Given the description of an element on the screen output the (x, y) to click on. 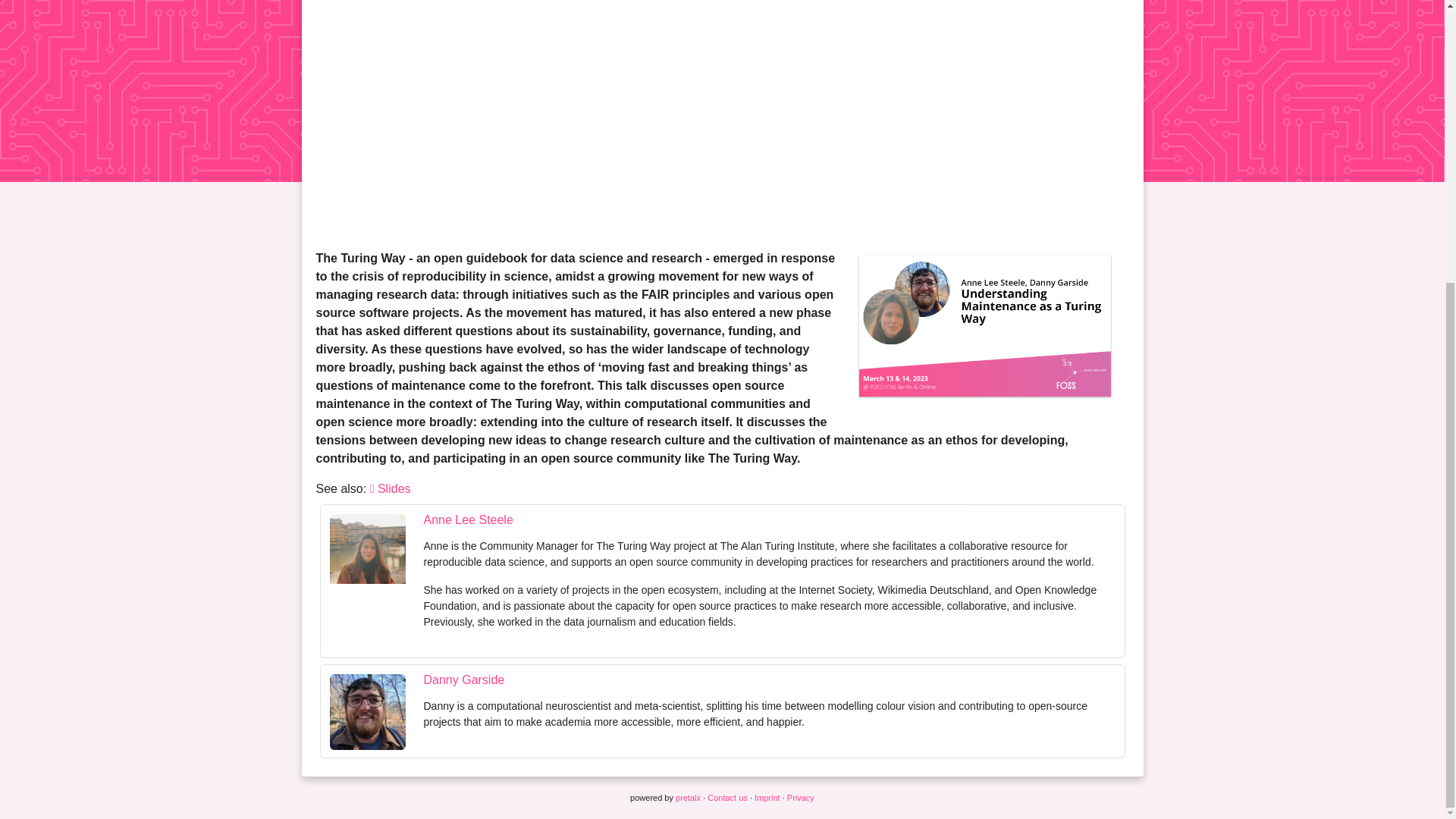
Imprint (767, 797)
pretalx (687, 797)
Contact us (727, 797)
Privacy (800, 797)
Anne Lee Steele (467, 519)
Slides (389, 488)
Danny Garside (463, 679)
